Given the description of an element on the screen output the (x, y) to click on. 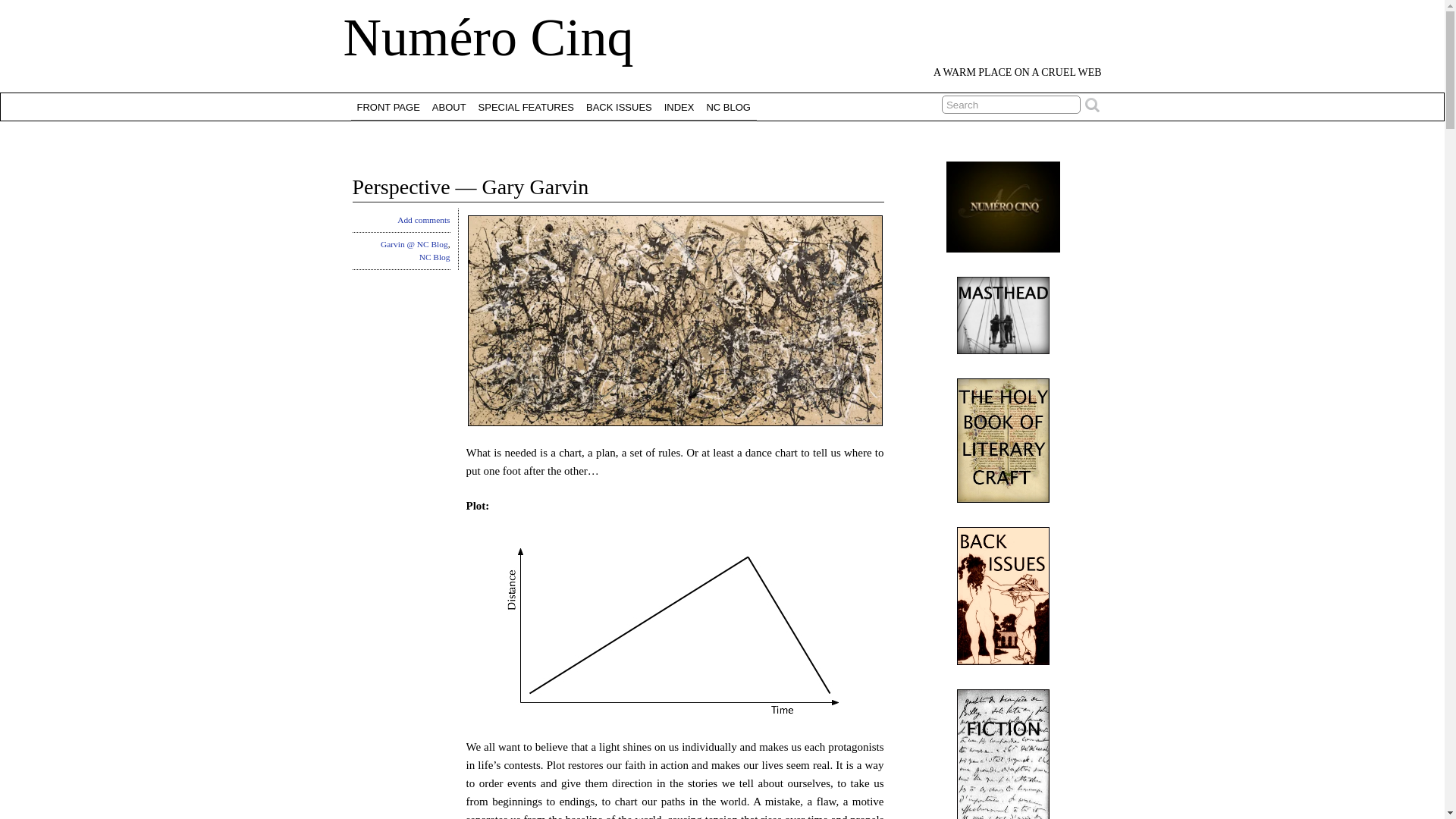
Search (1011, 104)
INDEX (679, 106)
FRONT PAGE (387, 106)
ABOUT (448, 106)
SPECIAL FEATURES (525, 106)
Search (1011, 104)
NC BLOG (728, 106)
BACK ISSUES (618, 106)
